Given the description of an element on the screen output the (x, y) to click on. 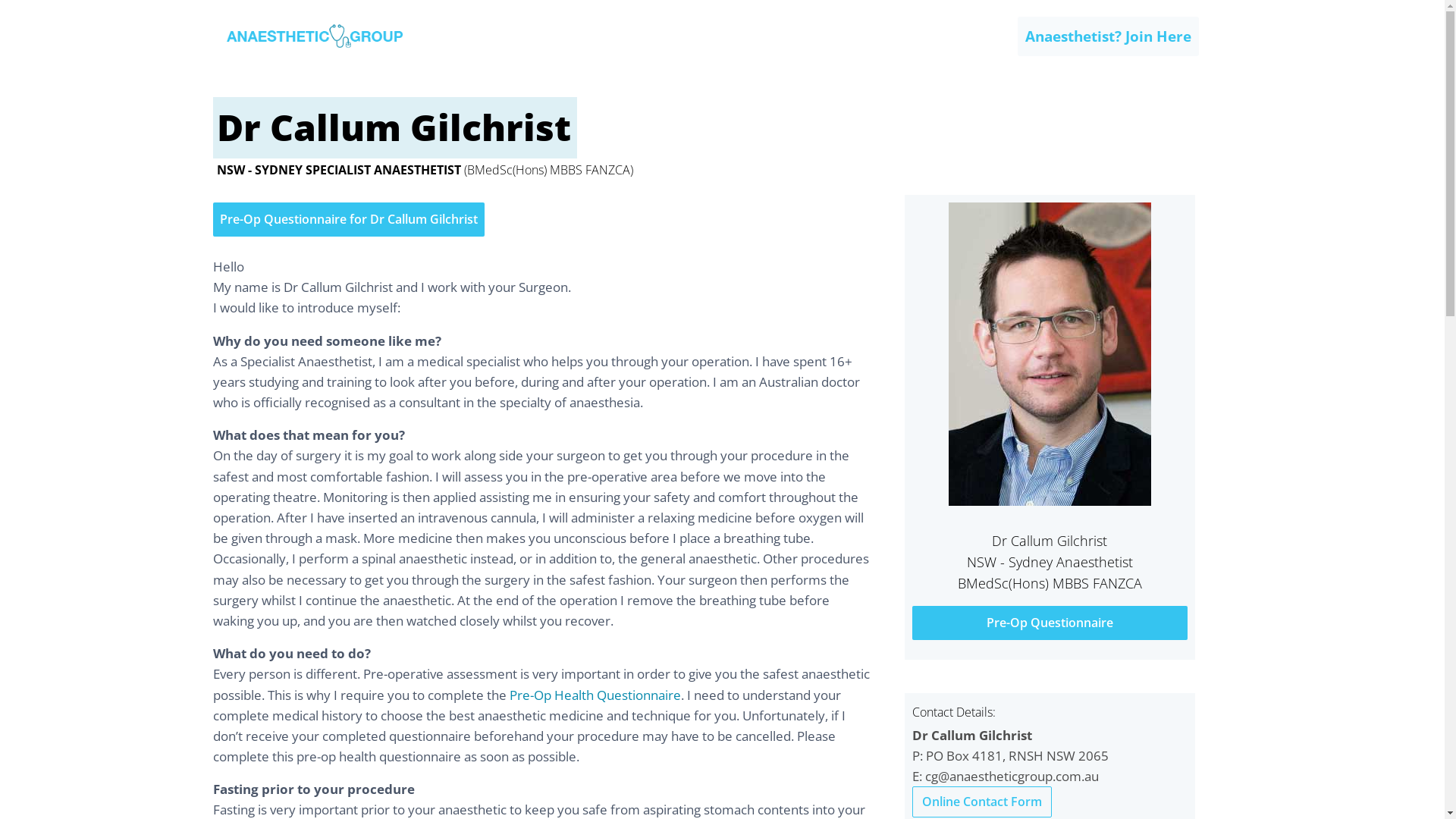
Anaesthetist? Join Here Element type: text (1107, 36)
Pre-Op Questionnaire for Dr Callum Gilchrist Element type: text (347, 219)
Online Contact Form Element type: text (981, 801)
Pre-Op Questionnaire Element type: text (1049, 622)
Pre-Op Health Questionnaire Element type: text (594, 694)
